Given the description of an element on the screen output the (x, y) to click on. 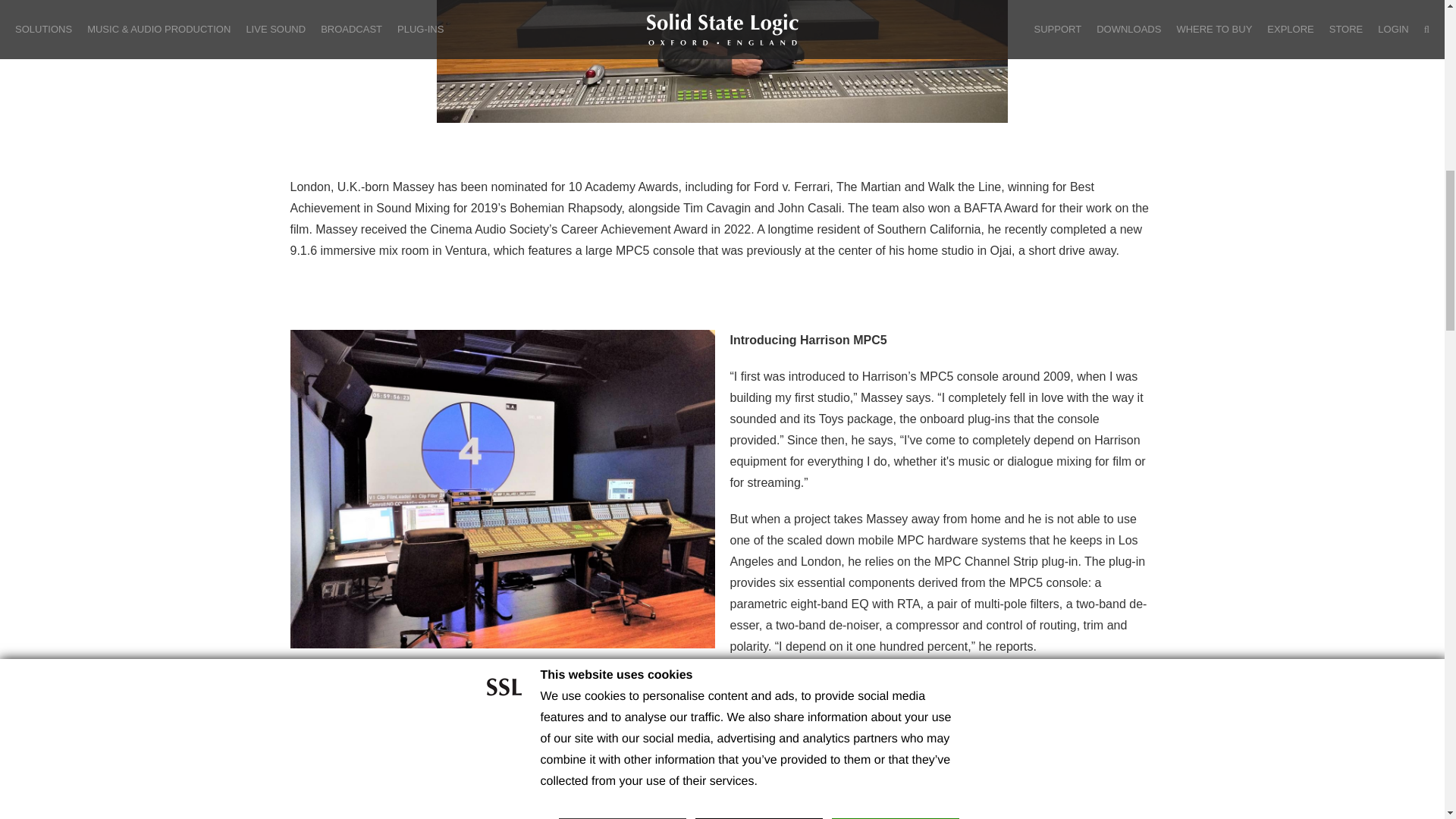
Show cookie details (901, 31)
Allow selection (758, 7)
Allow all cookies (894, 7)
Use required cookies only (621, 7)
